Given the description of an element on the screen output the (x, y) to click on. 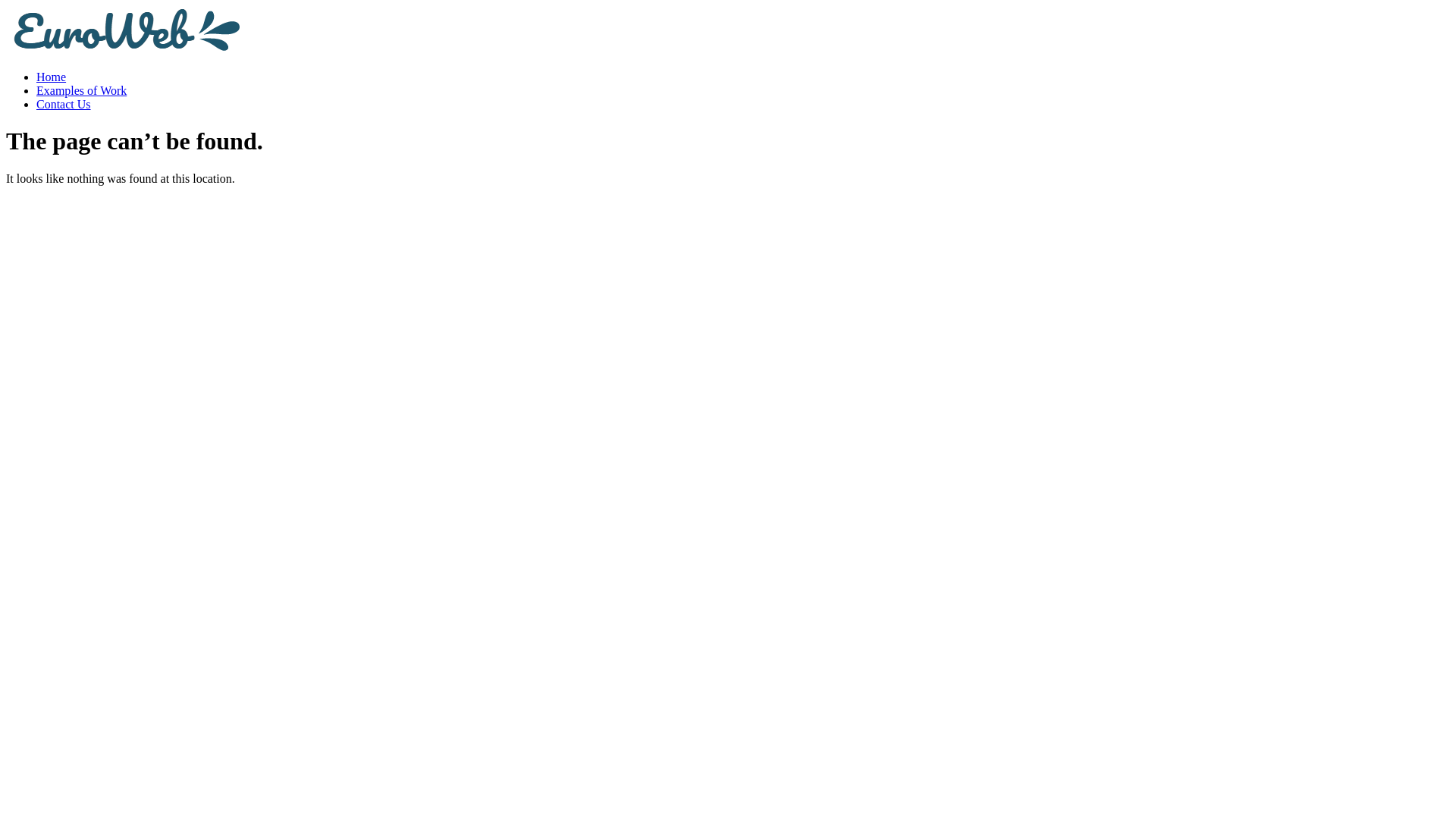
Contact Us Element type: text (63, 103)
Examples of Work Element type: text (81, 90)
Home Element type: text (50, 76)
